Given the description of an element on the screen output the (x, y) to click on. 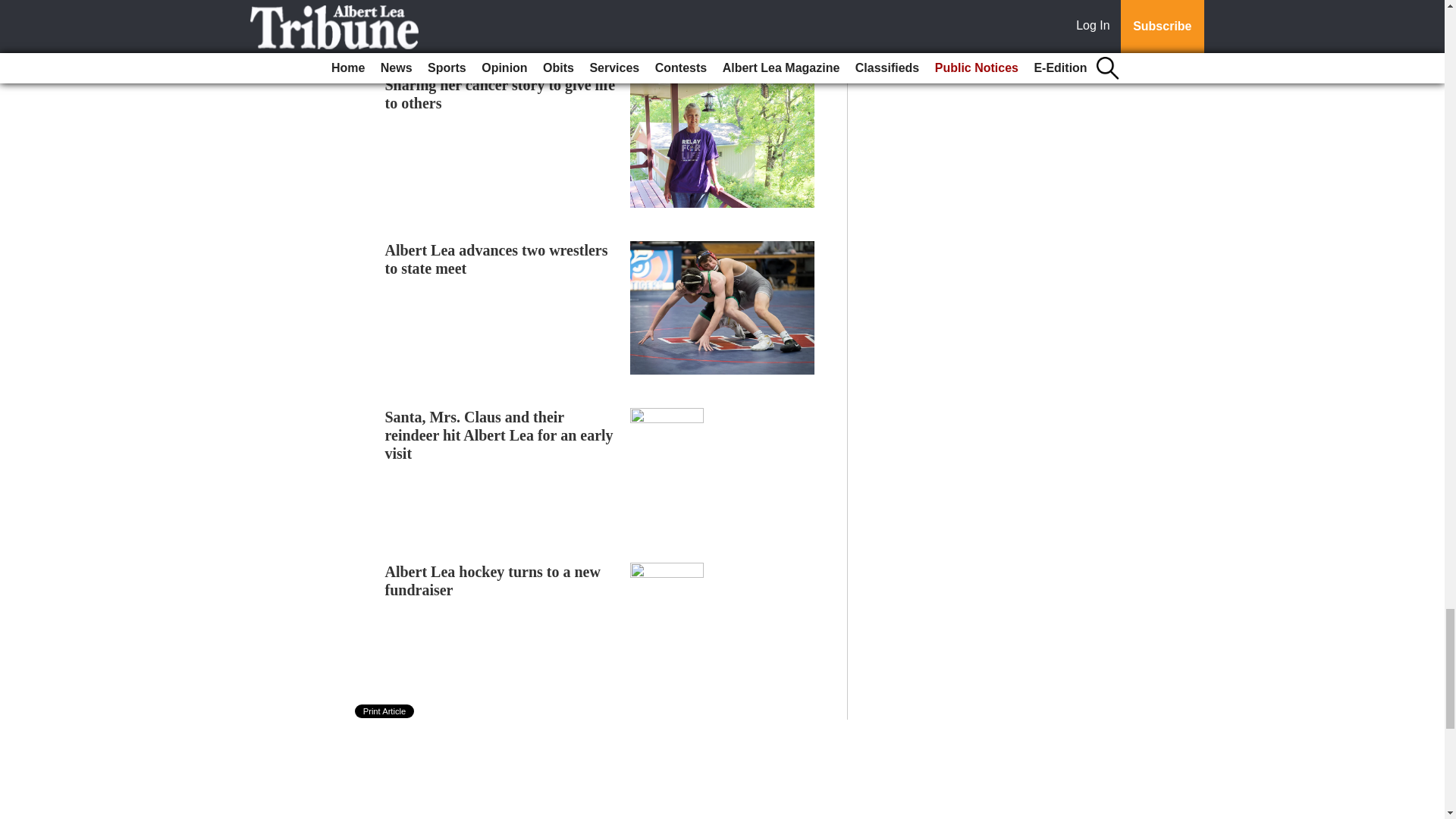
Albert Lea advances two wrestlers to state meet (496, 258)
Sharing her cancer story to give life to others (500, 93)
Albert Lea hockey turns to a new fundraiser (492, 580)
